Given the description of an element on the screen output the (x, y) to click on. 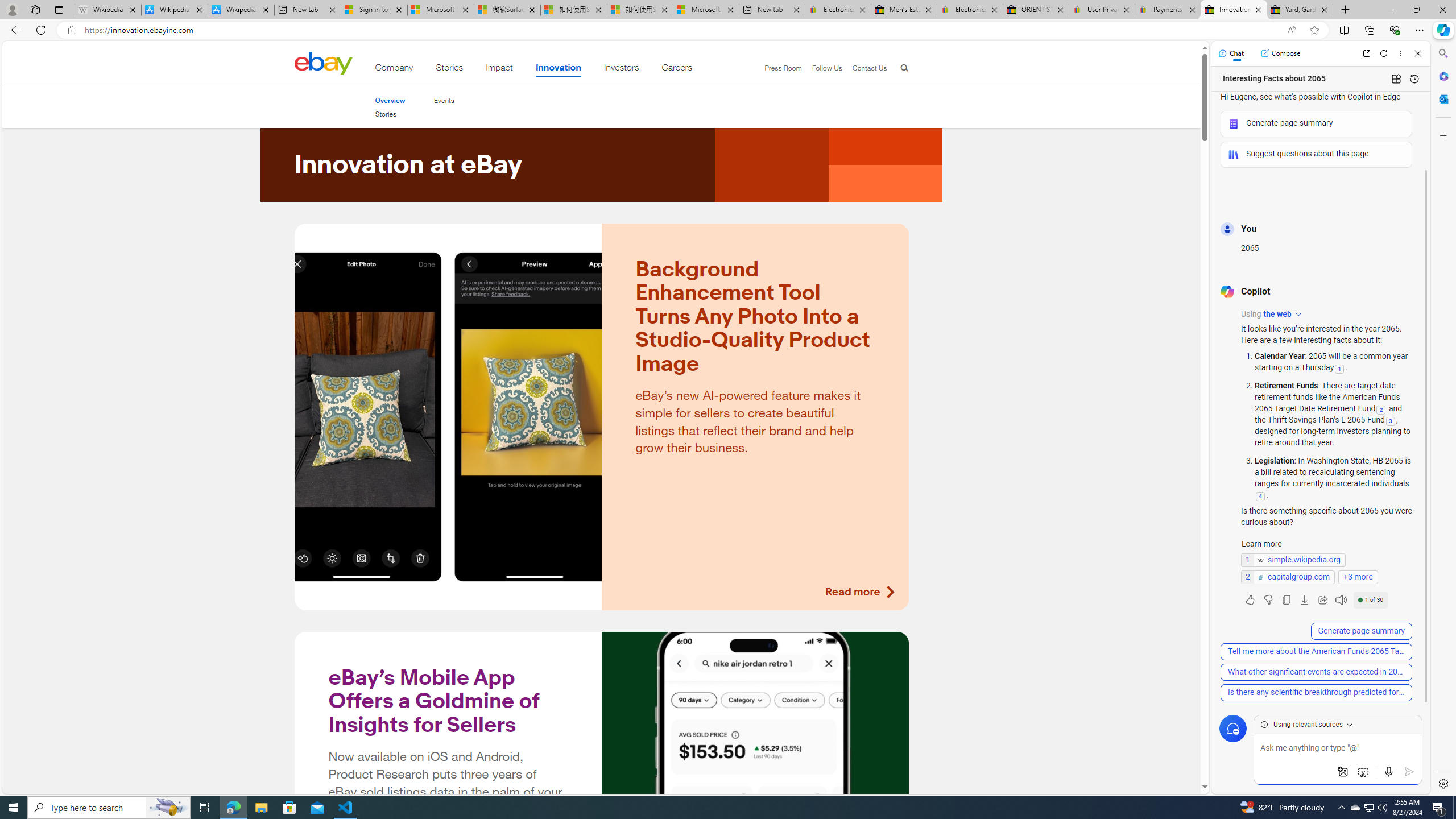
Impact (499, 69)
Microsoft account | Account Checkup (706, 9)
User Privacy Notice | eBay (1102, 9)
Contact Us (863, 68)
Careers (677, 69)
